Given the description of an element on the screen output the (x, y) to click on. 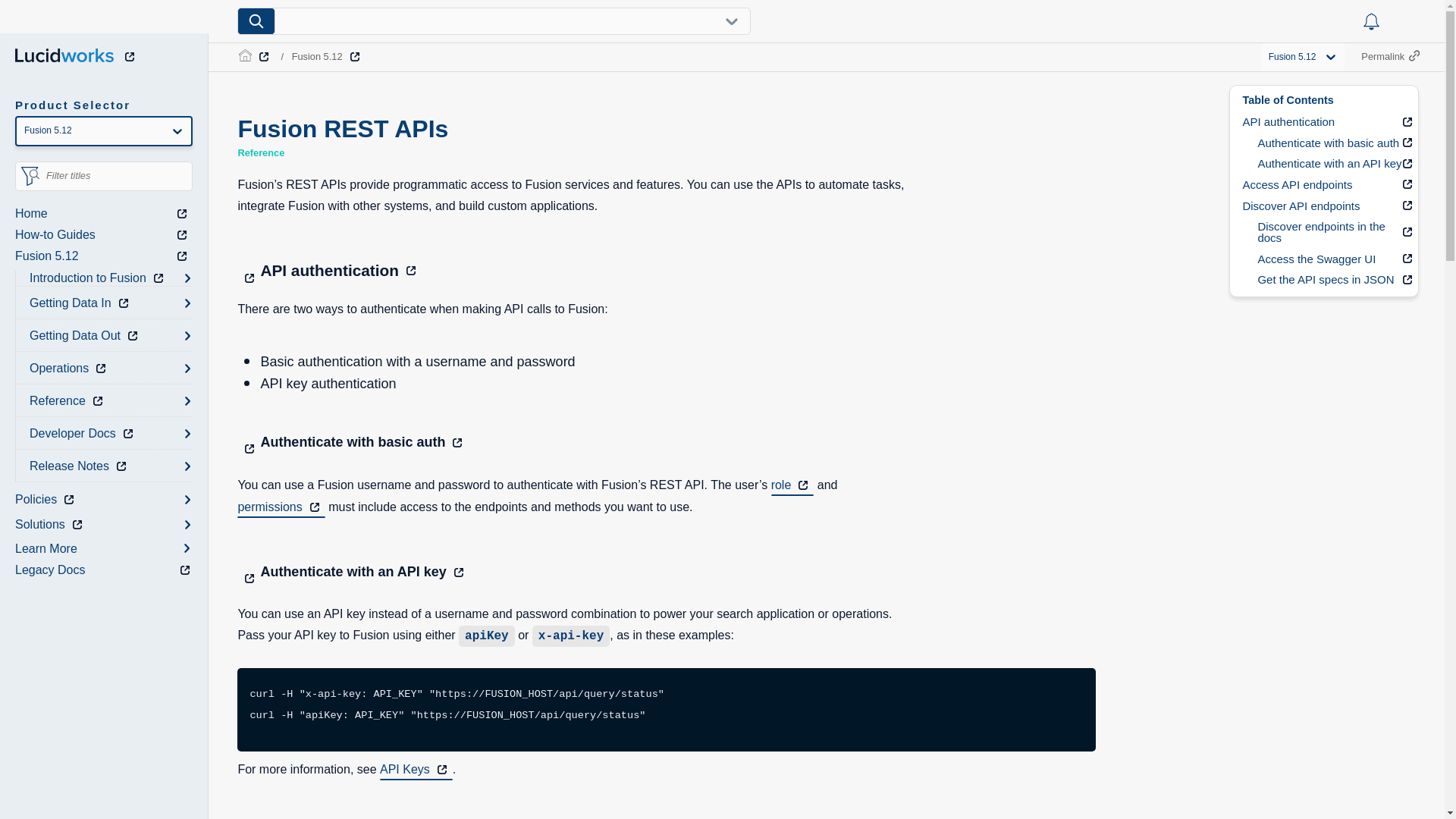
Permalink (1389, 56)
Access API endpoints (1324, 184)
Home (103, 213)
Access the Swagger UI (1331, 258)
Discover endpoints in the docs (1331, 232)
Toggle notifications panel (1371, 21)
Authenticate with basic auth (1331, 142)
Operations (70, 368)
Getting Data In (81, 303)
Developer Docs (83, 433)
Discover API endpoints (1324, 205)
Get the API specs in JSON (1331, 280)
Reference (68, 400)
Release Notes (80, 466)
Select product (103, 131)
